Given the description of an element on the screen output the (x, y) to click on. 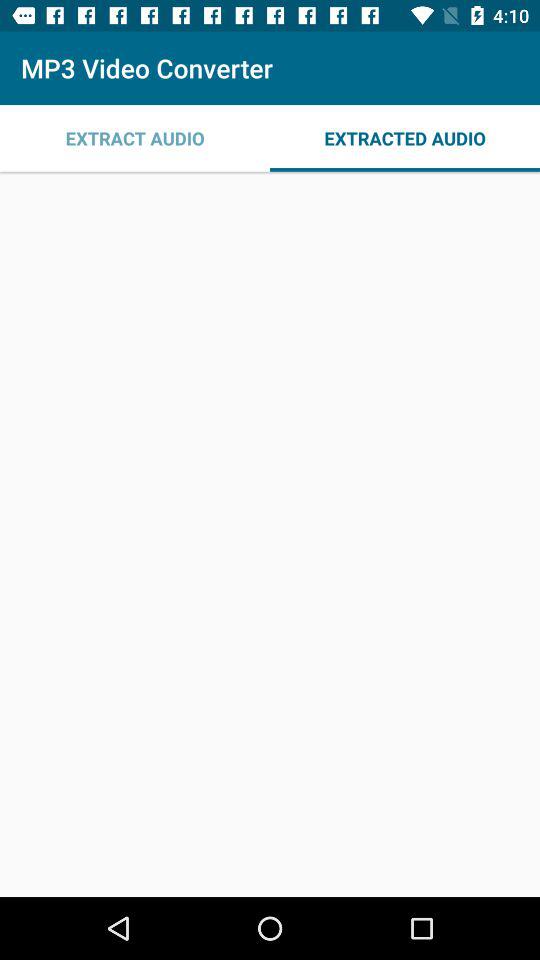
click the item to the left of extracted audio icon (135, 138)
